Given the description of an element on the screen output the (x, y) to click on. 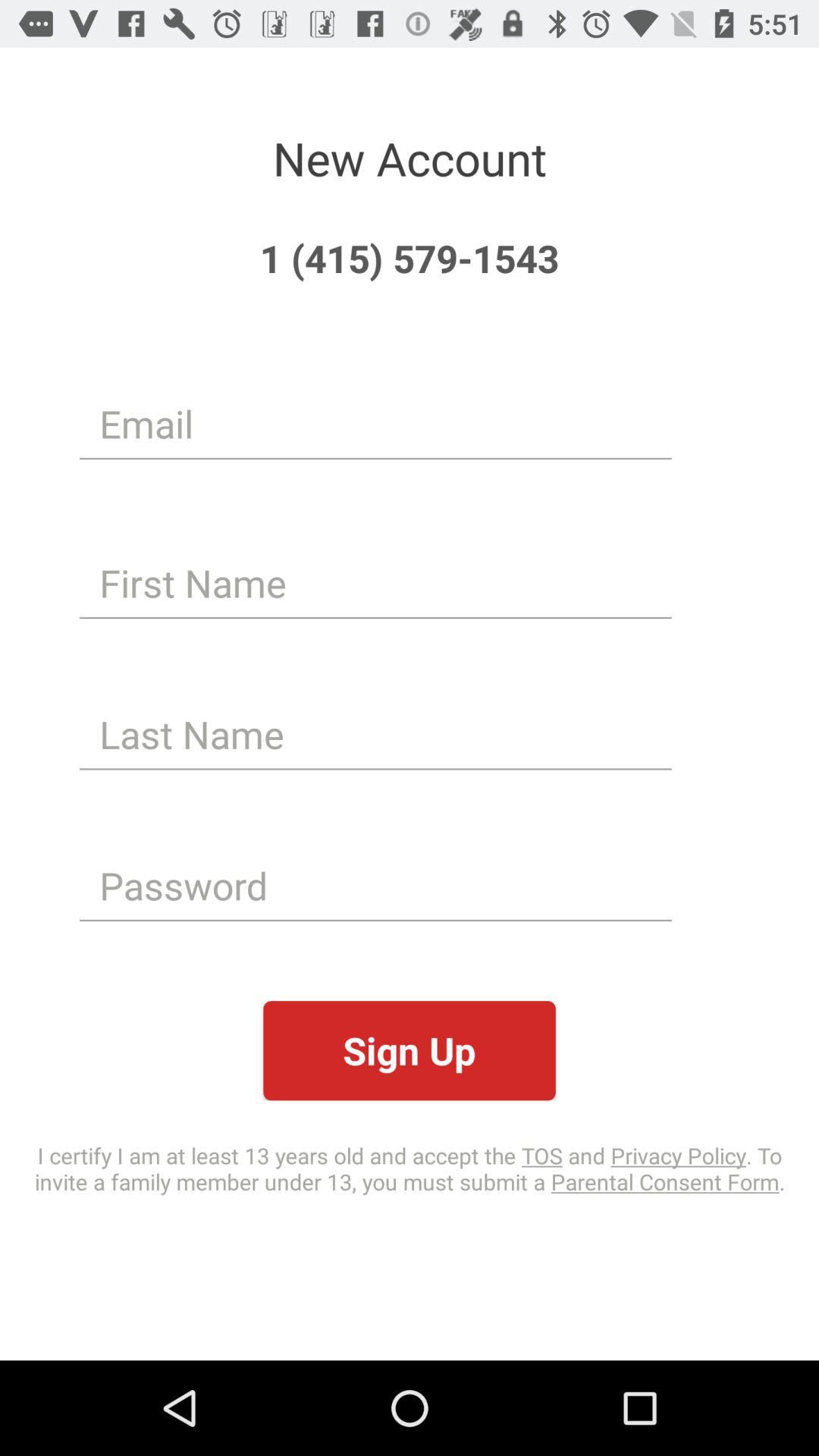
open the icon above sign up (375, 885)
